Given the description of an element on the screen output the (x, y) to click on. 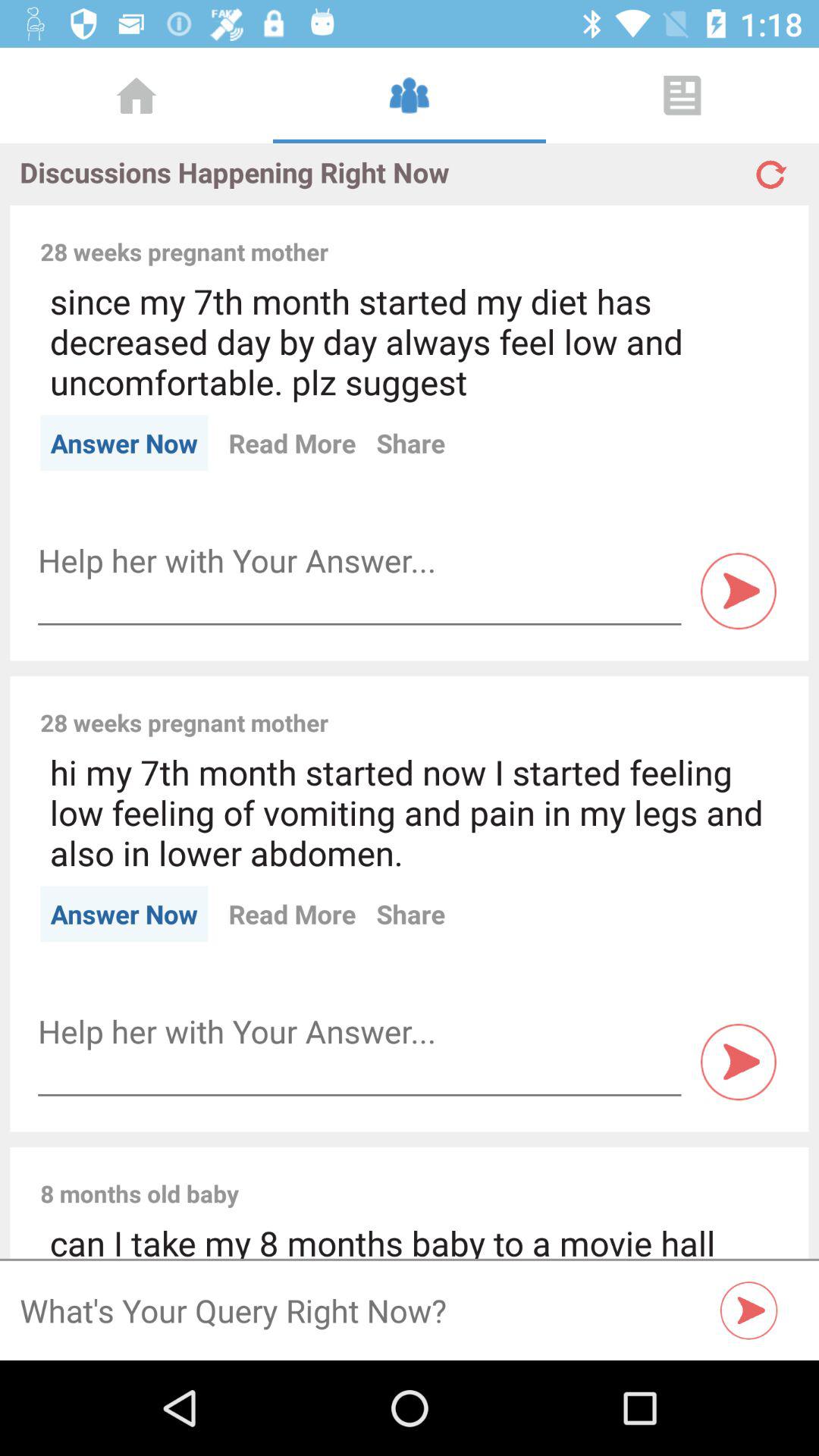
tap the icon to the right of the 28 weeks pregnant (563, 706)
